Given the description of an element on the screen output the (x, y) to click on. 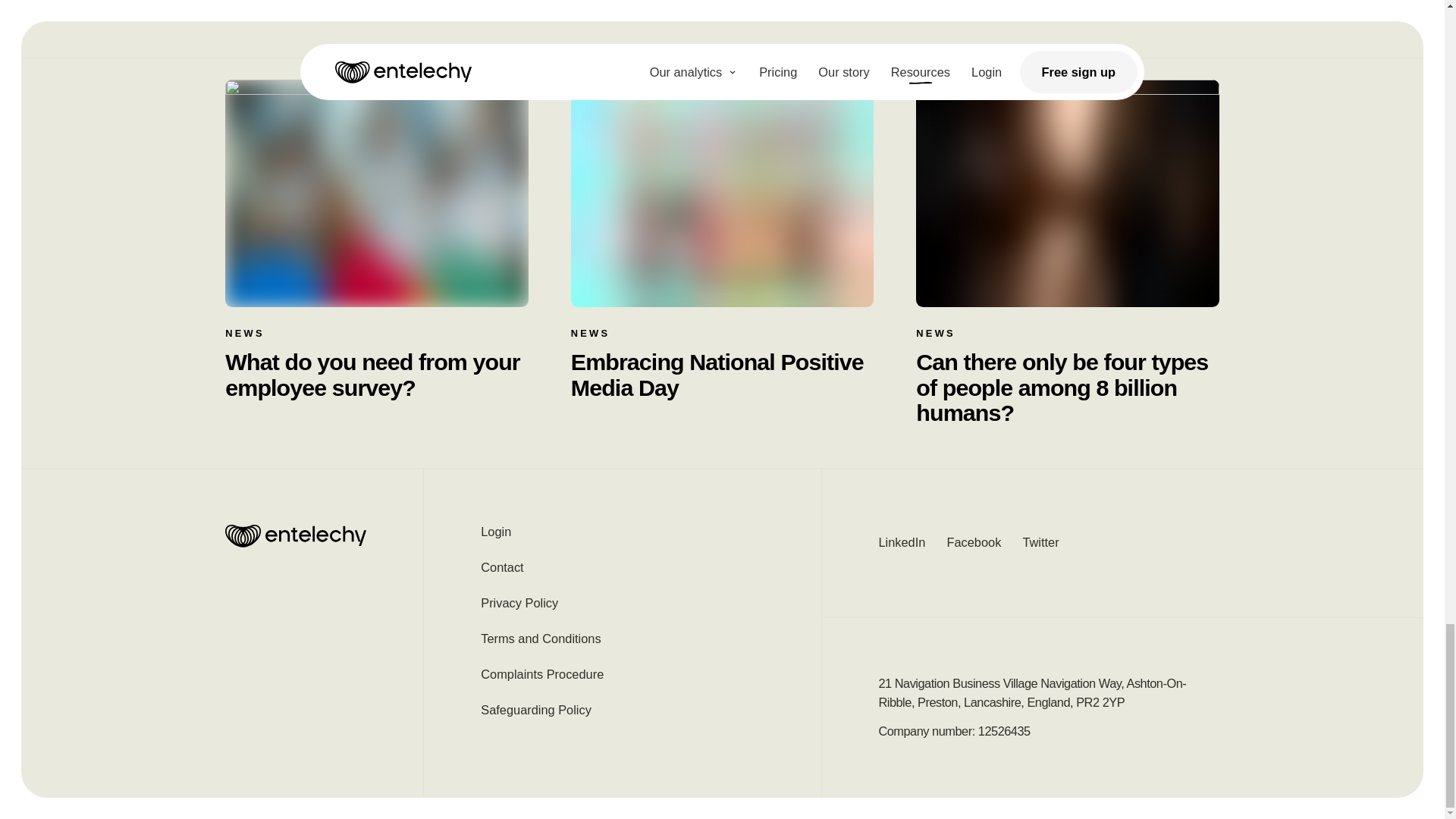
What do you need from your employee survey? (376, 374)
Embracing National Positive Media Day (721, 374)
Facebook (973, 542)
Login (621, 536)
LinkedIn (900, 542)
Contact (621, 567)
Complaints Procedure (621, 674)
Terms and Conditions (621, 638)
Twitter (1040, 542)
Safeguarding Policy (621, 710)
Privacy Policy (621, 602)
